Given the description of an element on the screen output the (x, y) to click on. 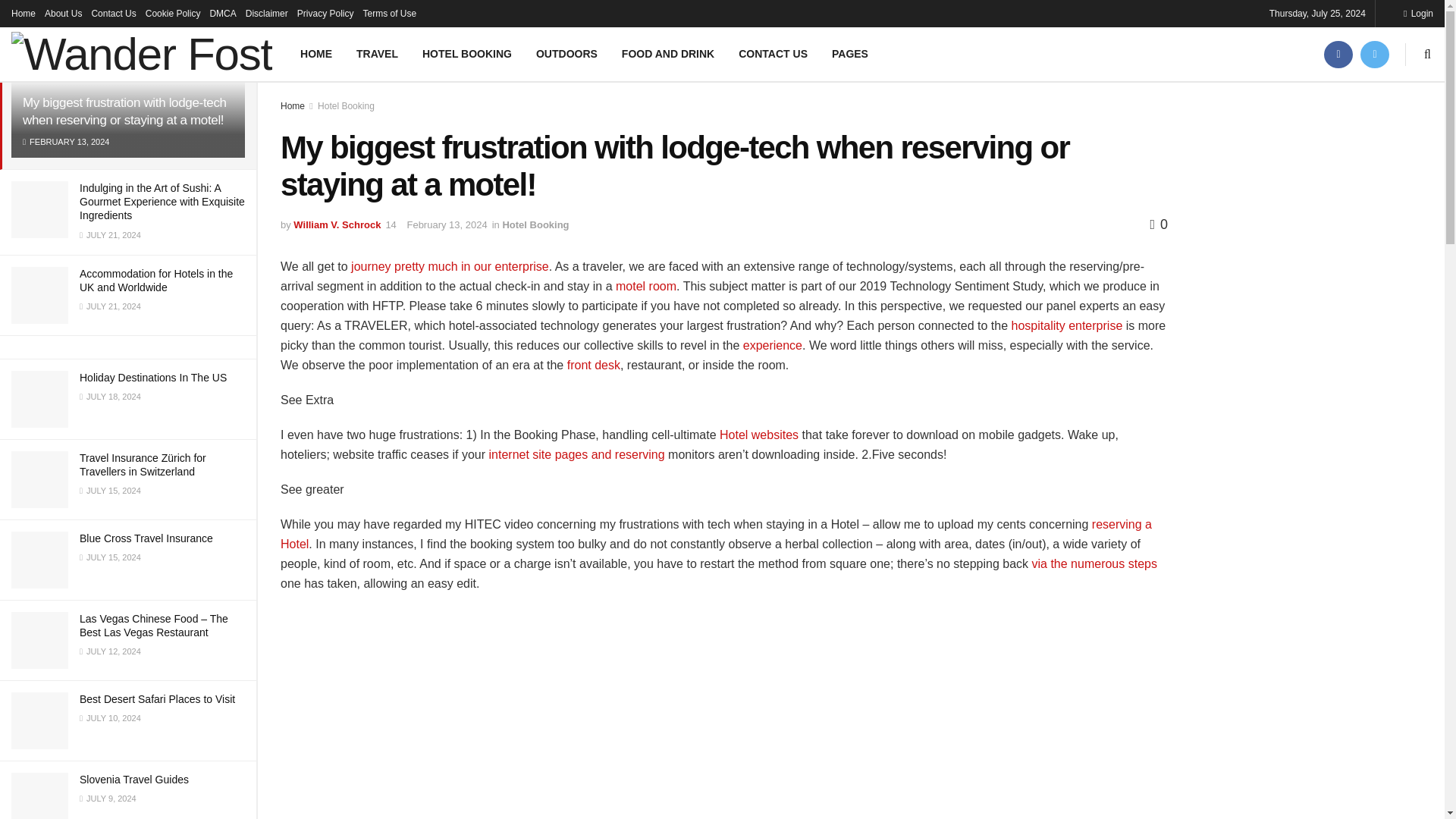
Slovenia Travel Guides  (136, 779)
Filter (227, 13)
Privacy Policy (325, 13)
HOME (315, 54)
Disclaimer (267, 13)
Cookie Policy (172, 13)
Contact Us (112, 13)
Best Desert Safari Places to Visit (157, 698)
Login (1417, 13)
Accommodation for Hotels in the UK and Worldwide (156, 280)
About Us (63, 13)
Blue Cross Travel Insurance (146, 538)
